Given the description of an element on the screen output the (x, y) to click on. 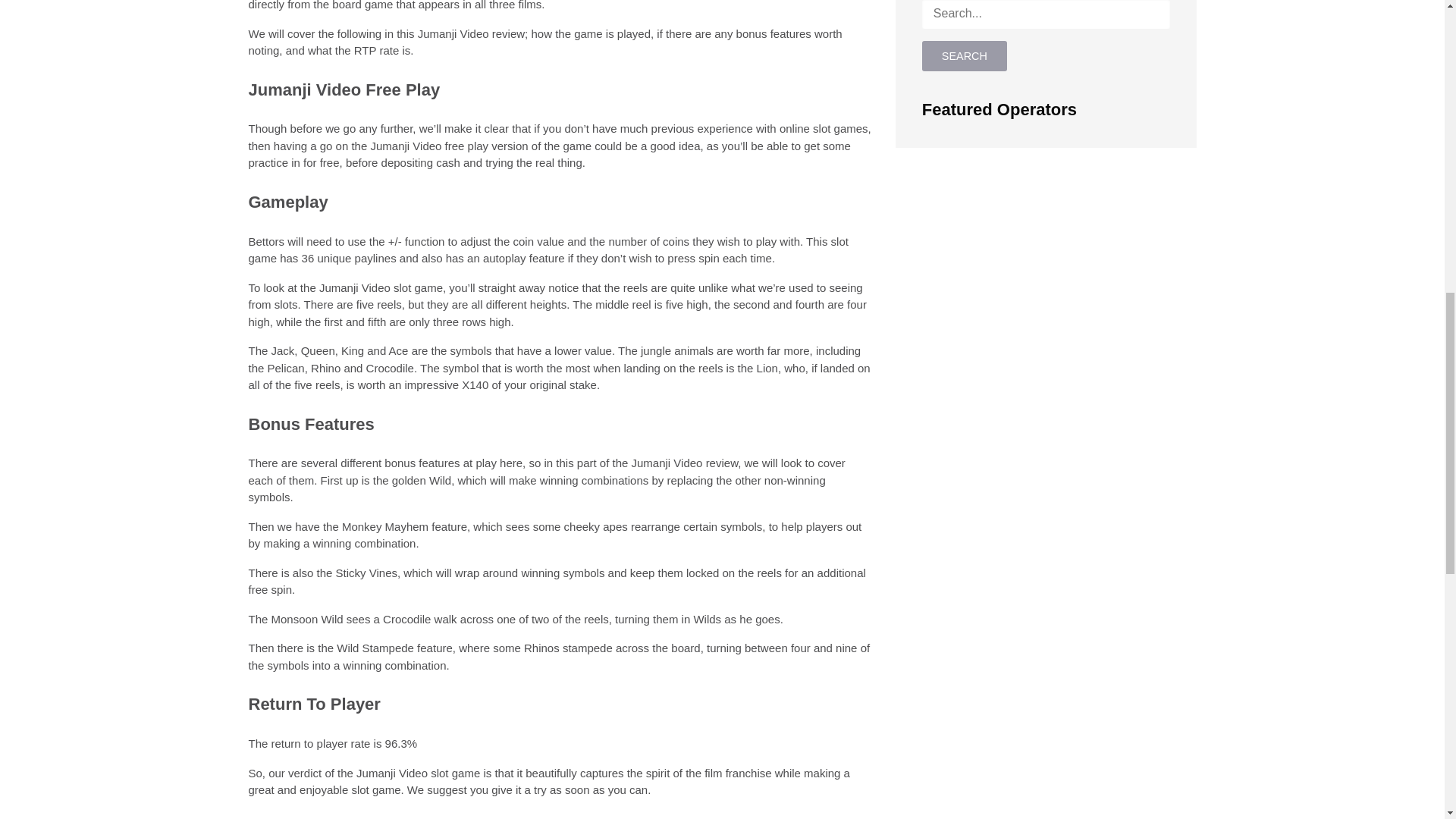
Search (964, 55)
Search (964, 55)
Search (964, 55)
Search for: (1045, 14)
